Given the description of an element on the screen output the (x, y) to click on. 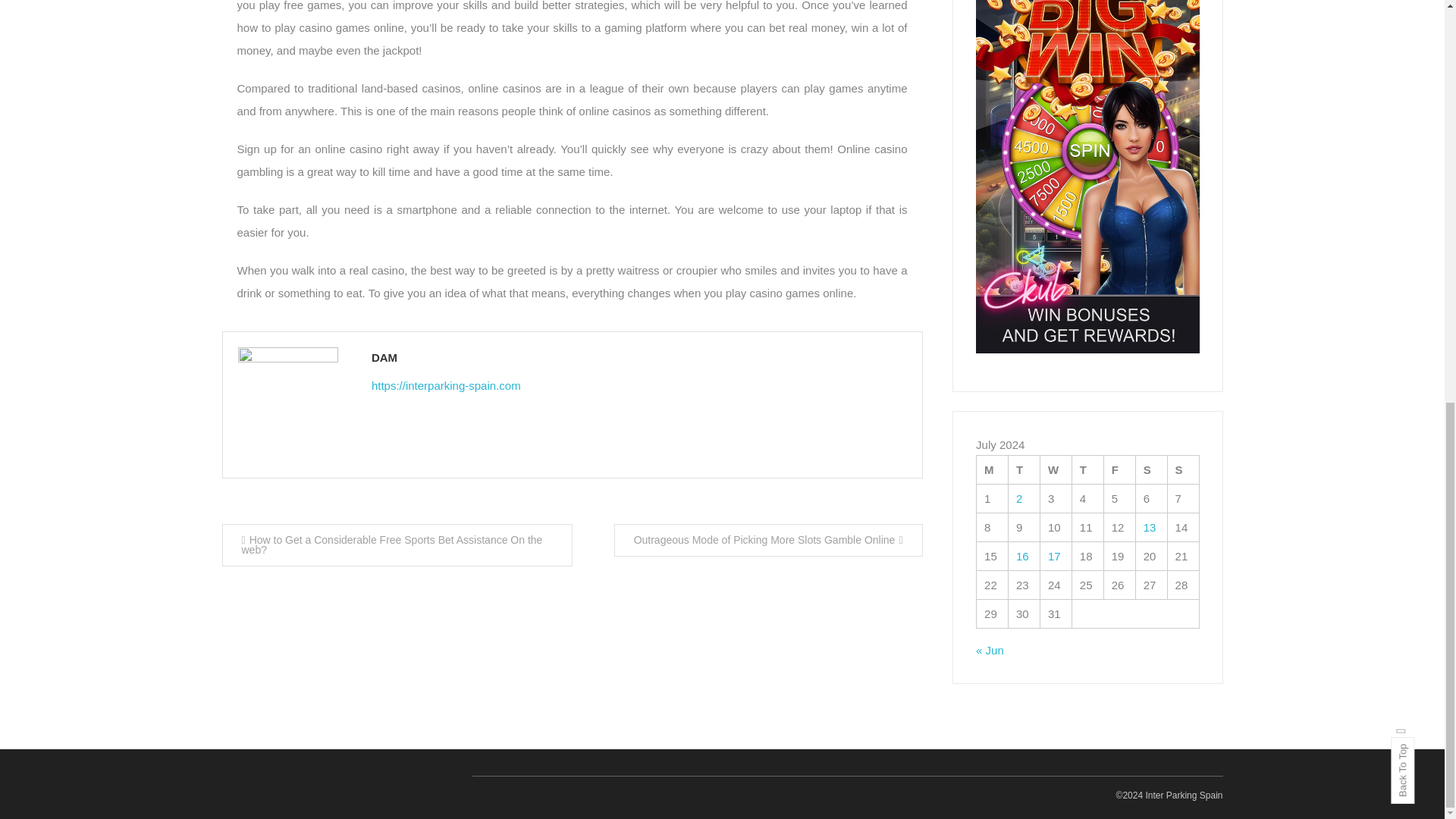
Outrageous Mode of Picking More Slots Gamble Online (768, 540)
Wednesday (1055, 469)
16 (1022, 555)
Sunday (1182, 469)
DAM (639, 357)
Tuesday (1025, 469)
Monday (992, 469)
Friday (1119, 469)
Thursday (1087, 469)
Saturday (1151, 469)
13 (1149, 526)
17 (1054, 555)
